Given the description of an element on the screen output the (x, y) to click on. 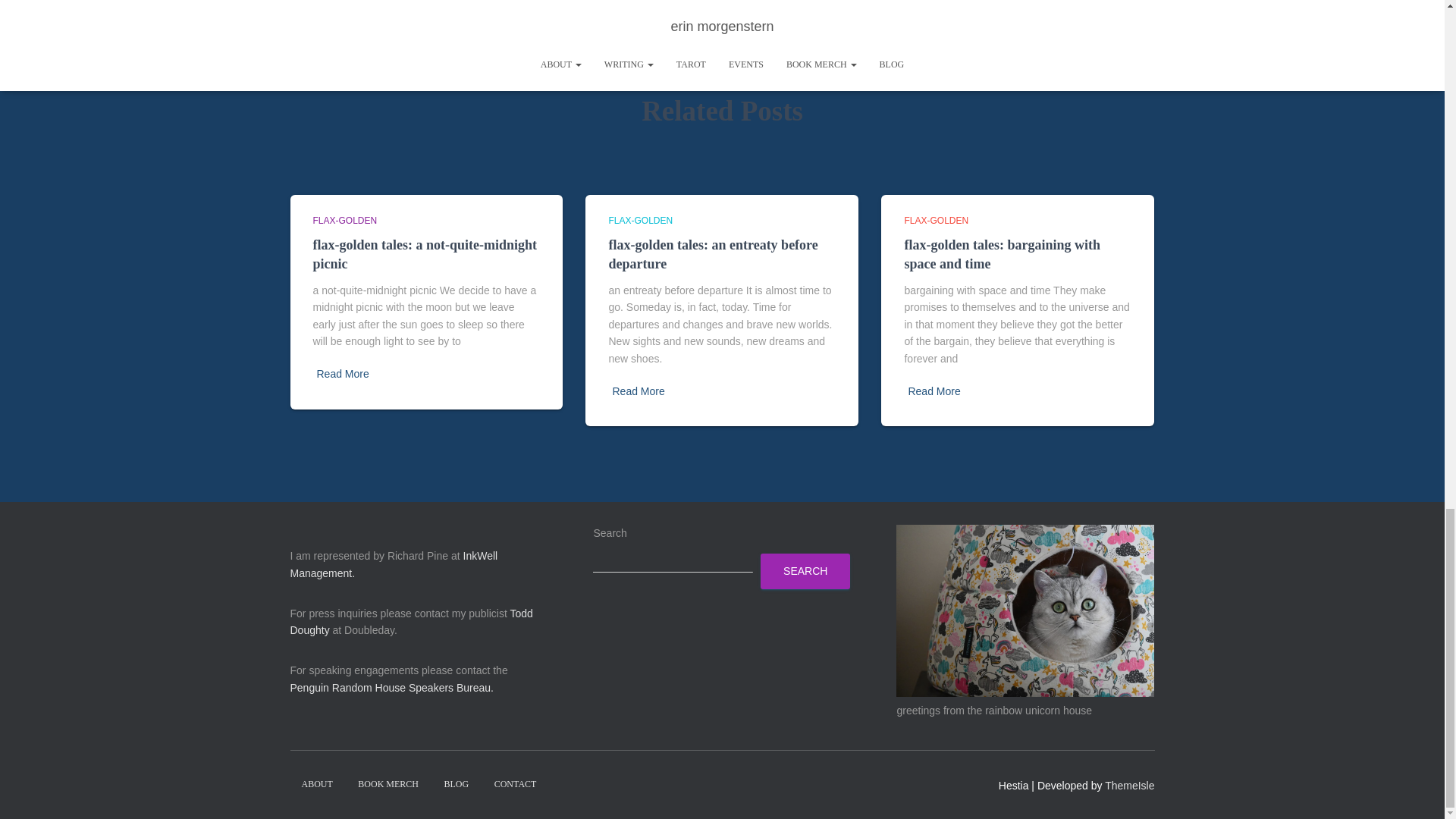
flax-golden tales: an entreaty before departure (712, 254)
Read More (637, 391)
flax-golden tales: a not-quite-midnight picnic (425, 254)
FLAX-GOLDEN (345, 220)
flax-golden tales: bargaining with space and time (1002, 254)
Todd Doughty (410, 622)
Read More (933, 391)
InkWell Management. (393, 564)
FLAX-GOLDEN (936, 220)
FLAX-GOLDEN (640, 220)
Read More (343, 374)
